Given the description of an element on the screen output the (x, y) to click on. 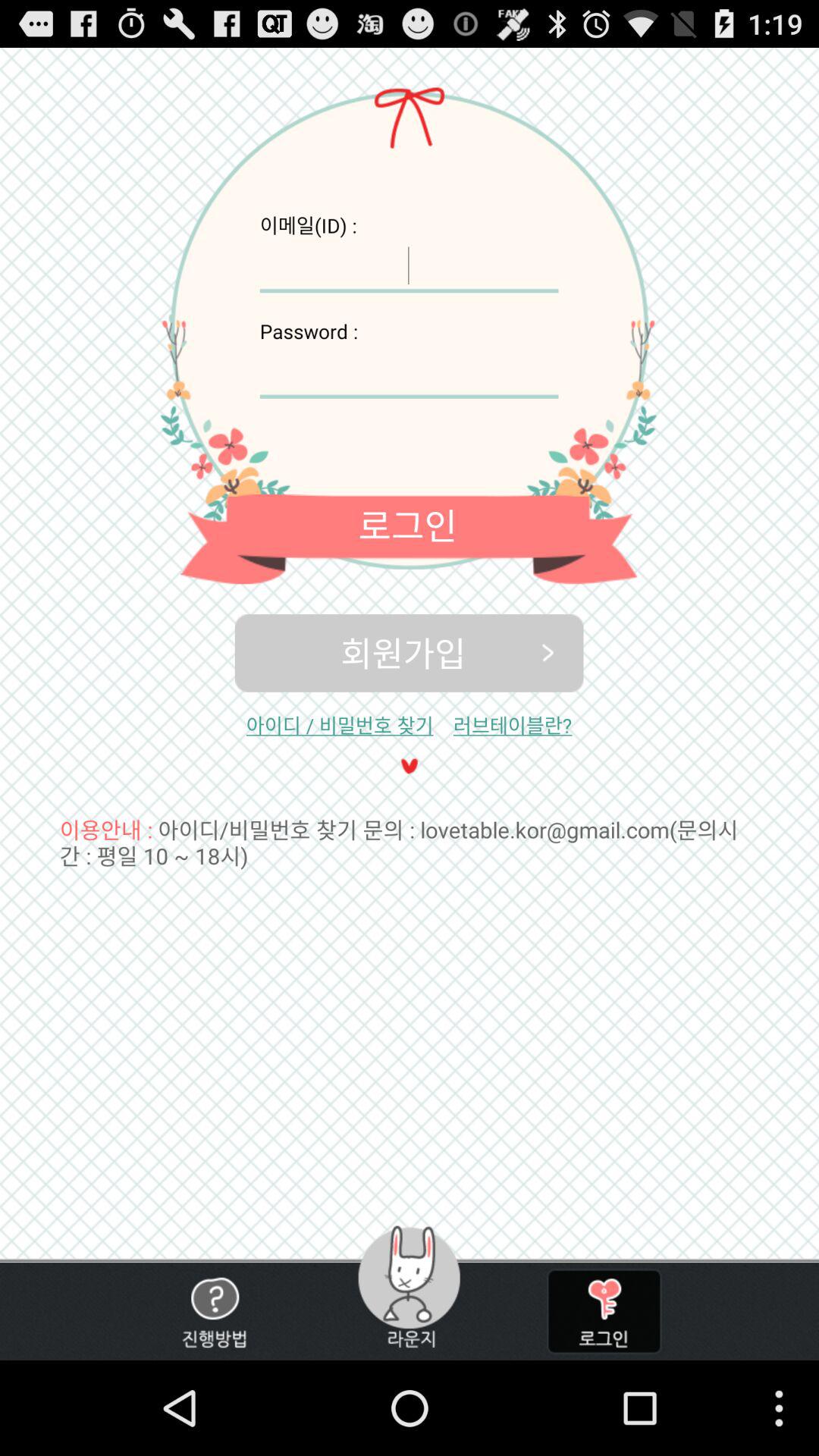
get more information about the current page (213, 1311)
